Given the description of an element on the screen output the (x, y) to click on. 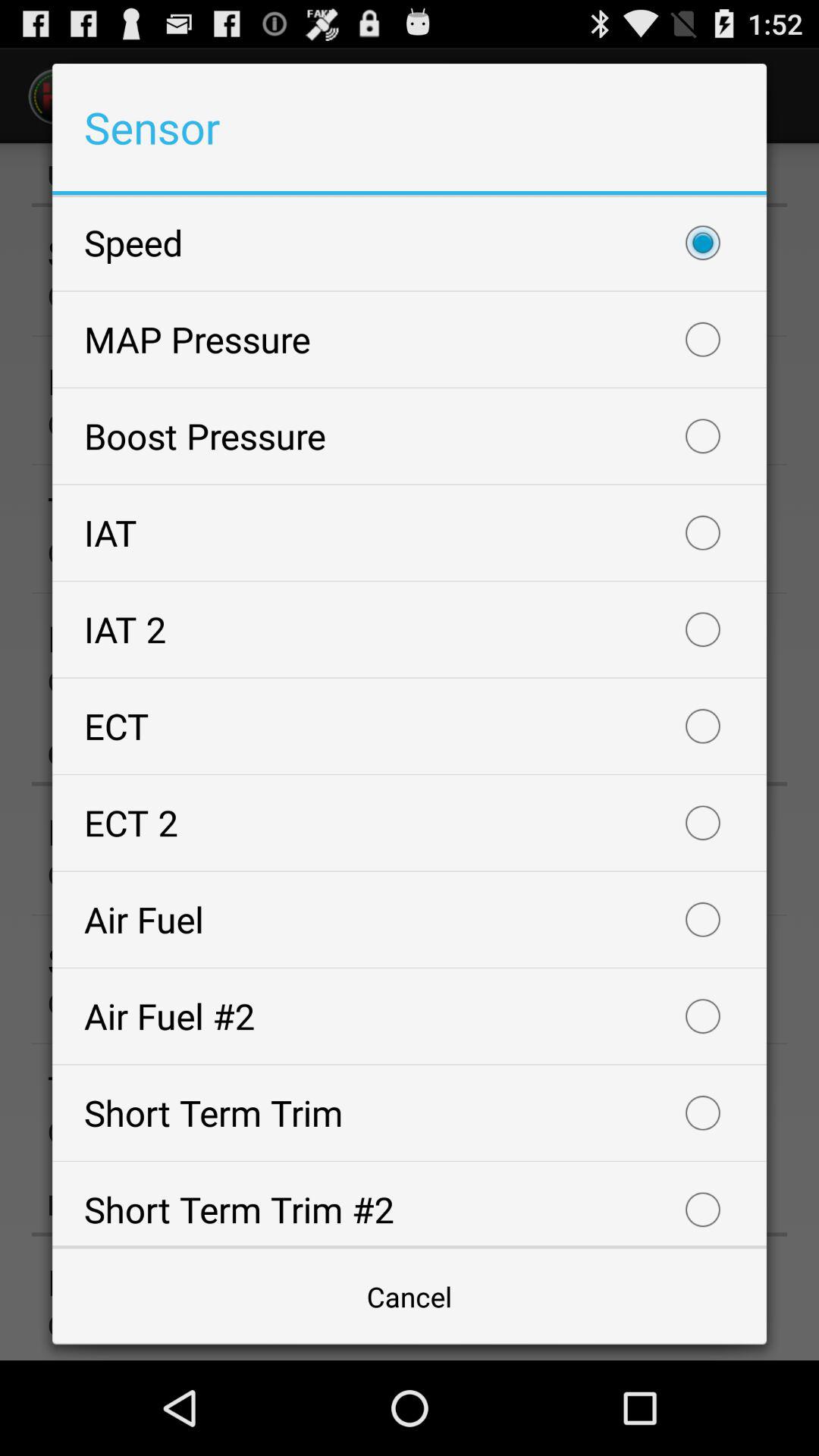
turn on the cancel item (409, 1296)
